Given the description of an element on the screen output the (x, y) to click on. 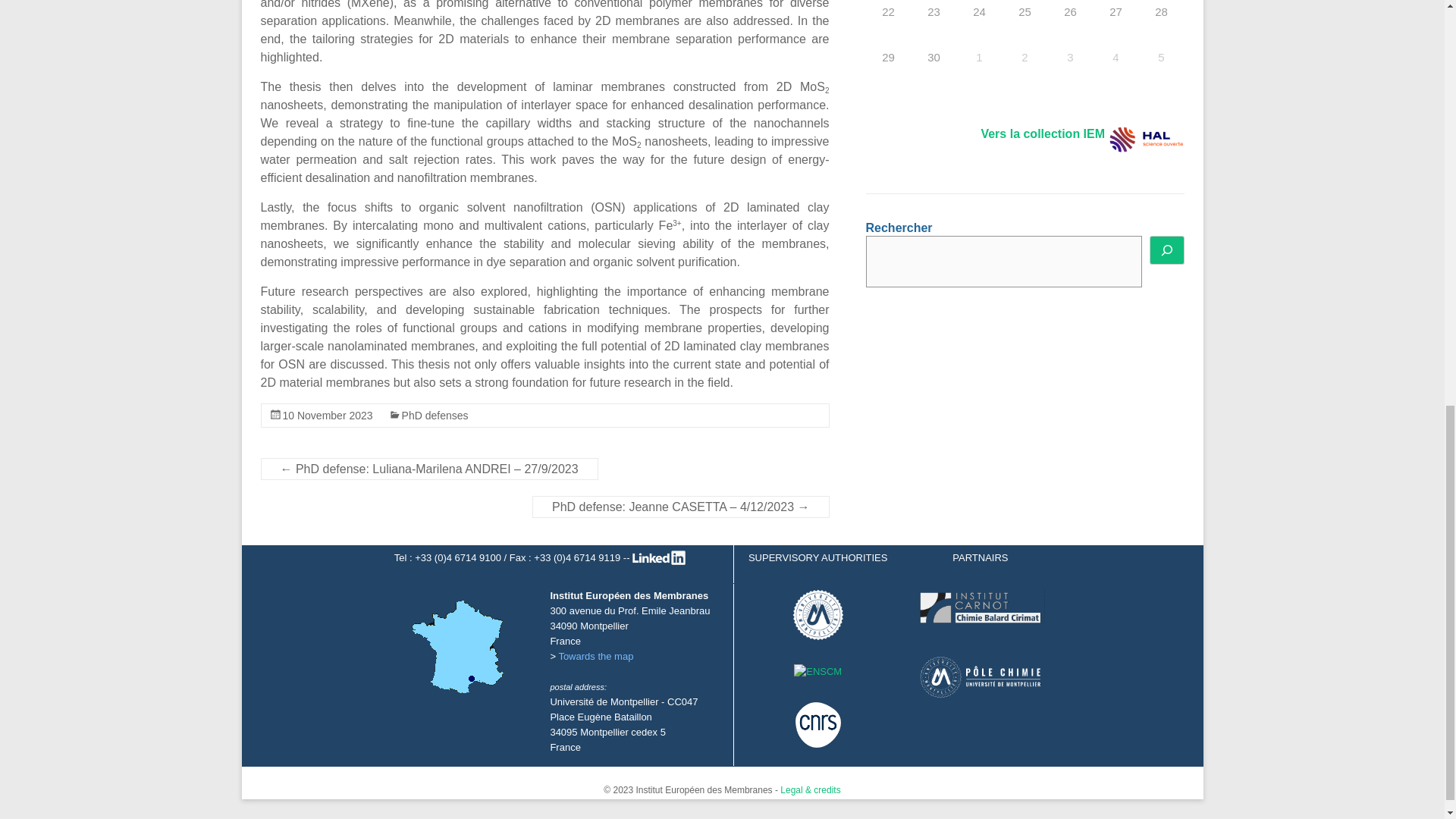
Vers la collection IEM (1042, 133)
10 November 2023 (327, 415)
Towards the map (595, 655)
17:53 (327, 415)
PhD defenses (434, 415)
